Given the description of an element on the screen output the (x, y) to click on. 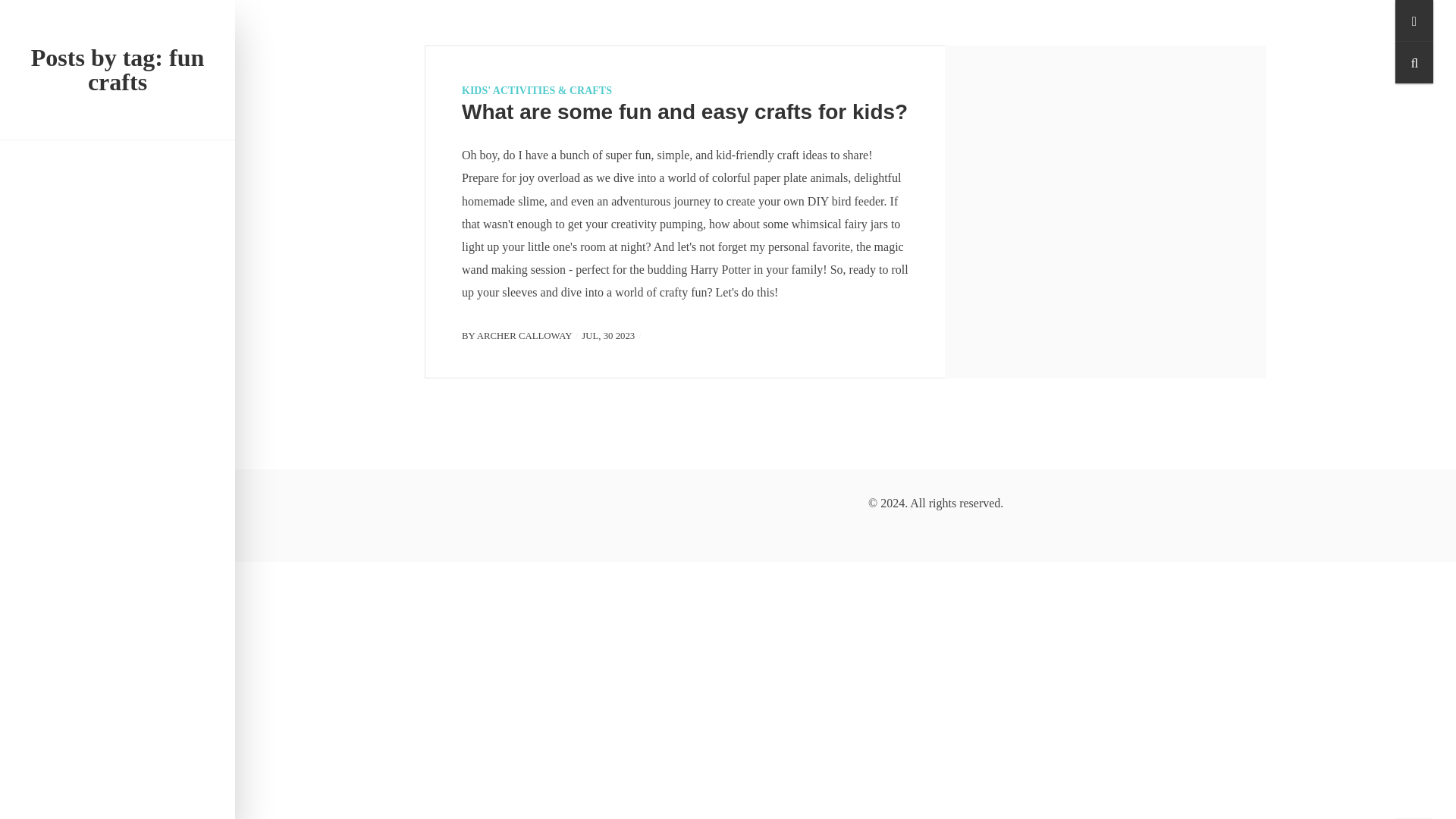
Posts by tag: fun crafts (117, 70)
ARCHER CALLOWAY (524, 335)
What are some fun and easy crafts for kids? (684, 111)
